Given the description of an element on the screen output the (x, y) to click on. 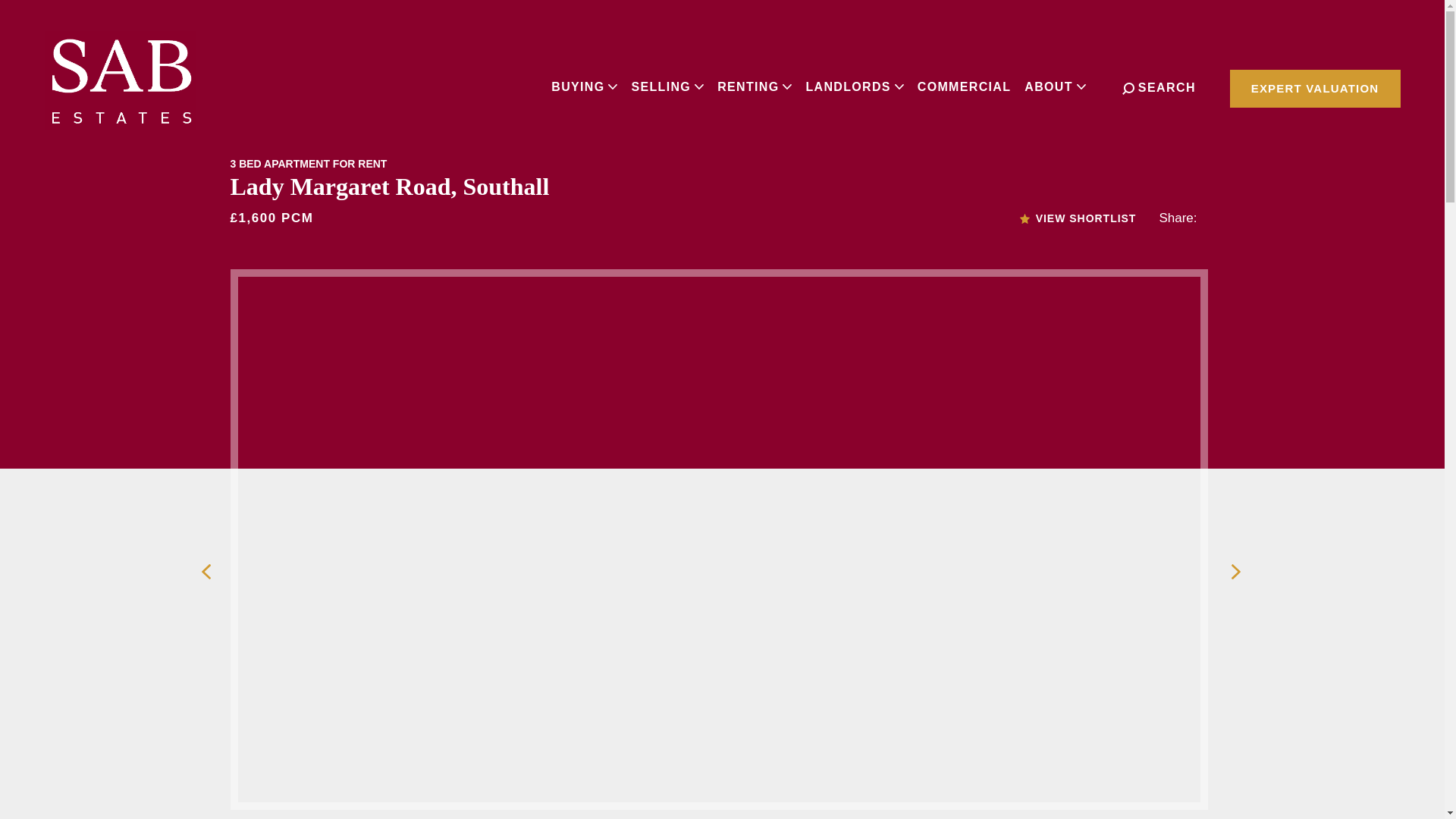
VIEW SHORTLIST (1078, 218)
RENTING (753, 86)
EXPERT VALUATION (1315, 88)
LANDLORDS (854, 86)
SEARCH (1158, 87)
BUYING (584, 86)
COMMERCIAL (964, 86)
SELLING (667, 86)
ABOUT (1054, 86)
